Given the description of an element on the screen output the (x, y) to click on. 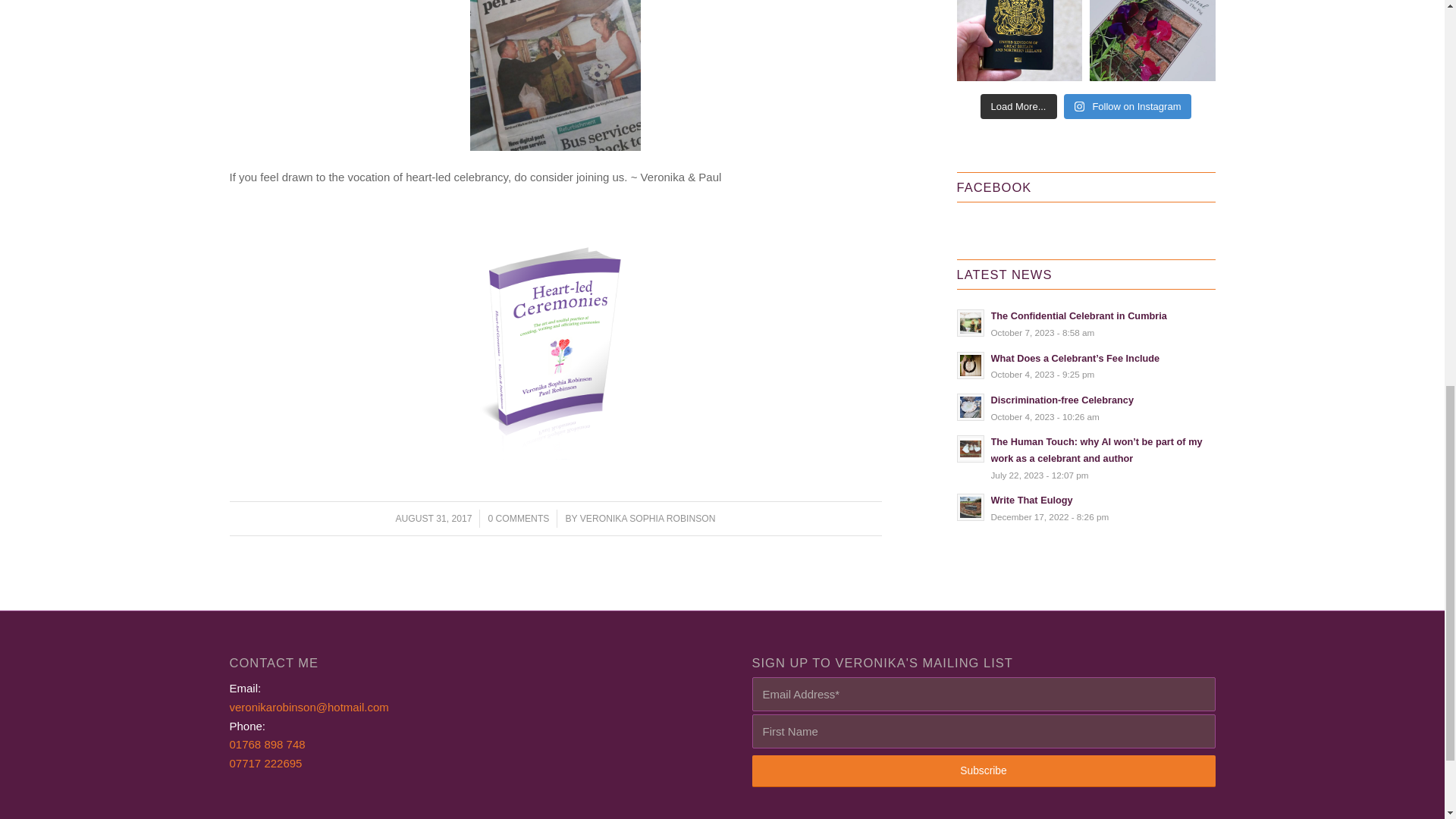
The Confidential Celebrant in Cumbria (1085, 323)
VERONIKA SOPHIA ROBINSON (647, 518)
0 COMMENTS (517, 518)
Posts by Veronika Sophia Robinson (647, 518)
Subscribe (983, 771)
